Given the description of an element on the screen output the (x, y) to click on. 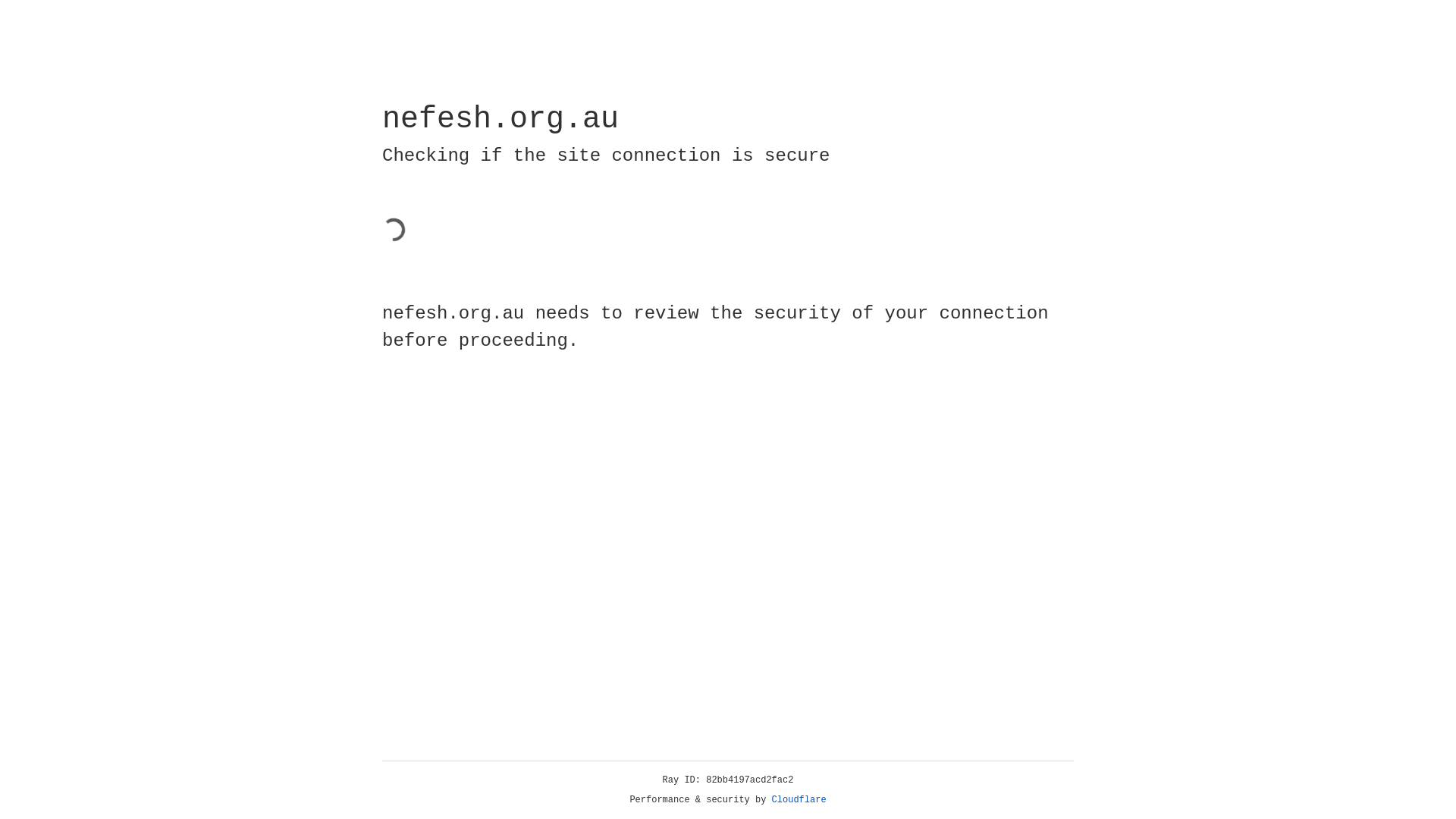
Cloudflare Element type: text (798, 799)
